Given the description of an element on the screen output the (x, y) to click on. 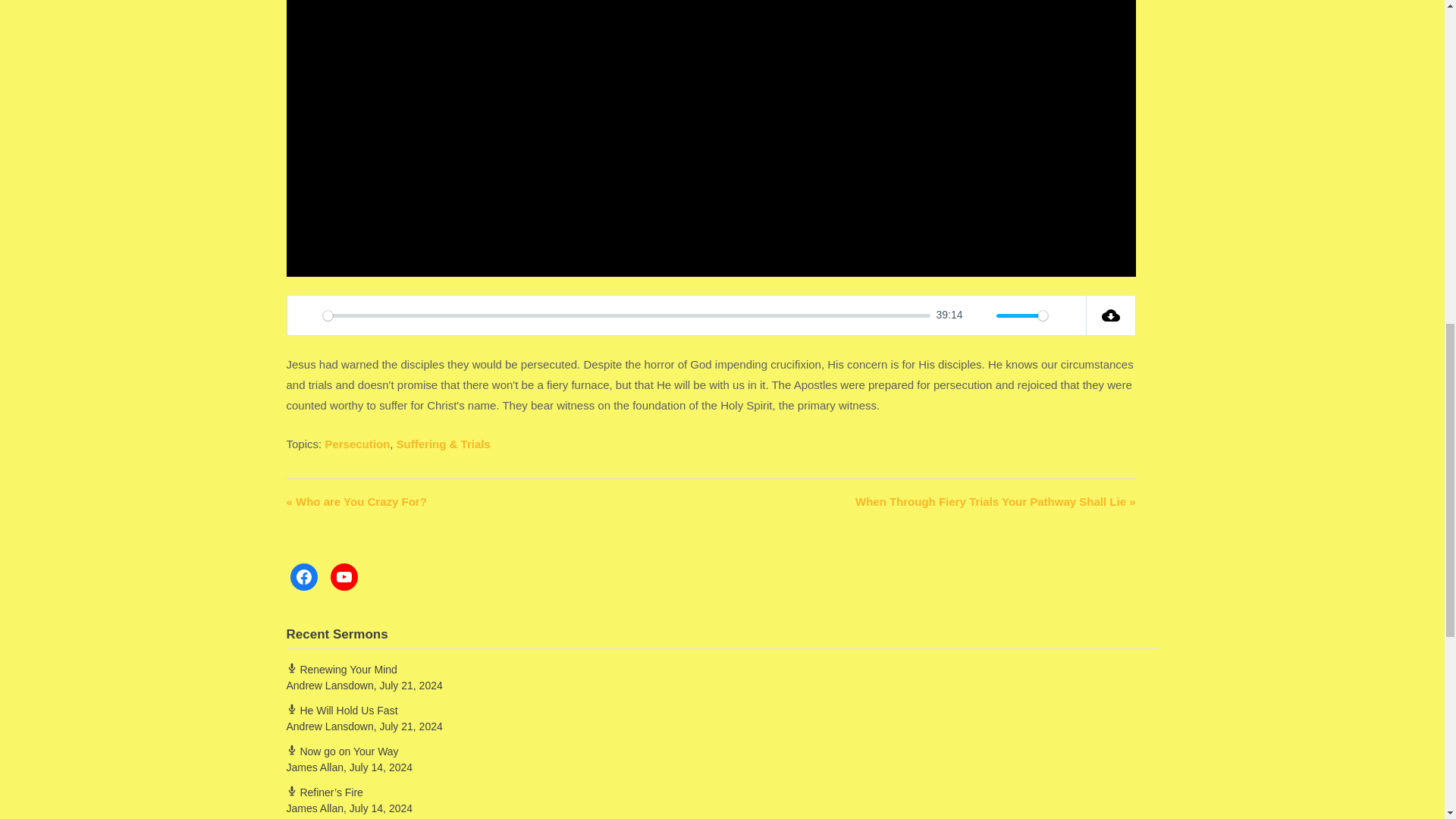
Settings (1066, 315)
Persecution (357, 443)
Mute (980, 315)
He Will Hold Us Fast (341, 710)
1 (1021, 315)
0 (626, 315)
Play (306, 315)
Now go on Your Way (342, 751)
Renewing Your Mind (341, 669)
Download Audio File (1110, 314)
